Given the description of an element on the screen output the (x, y) to click on. 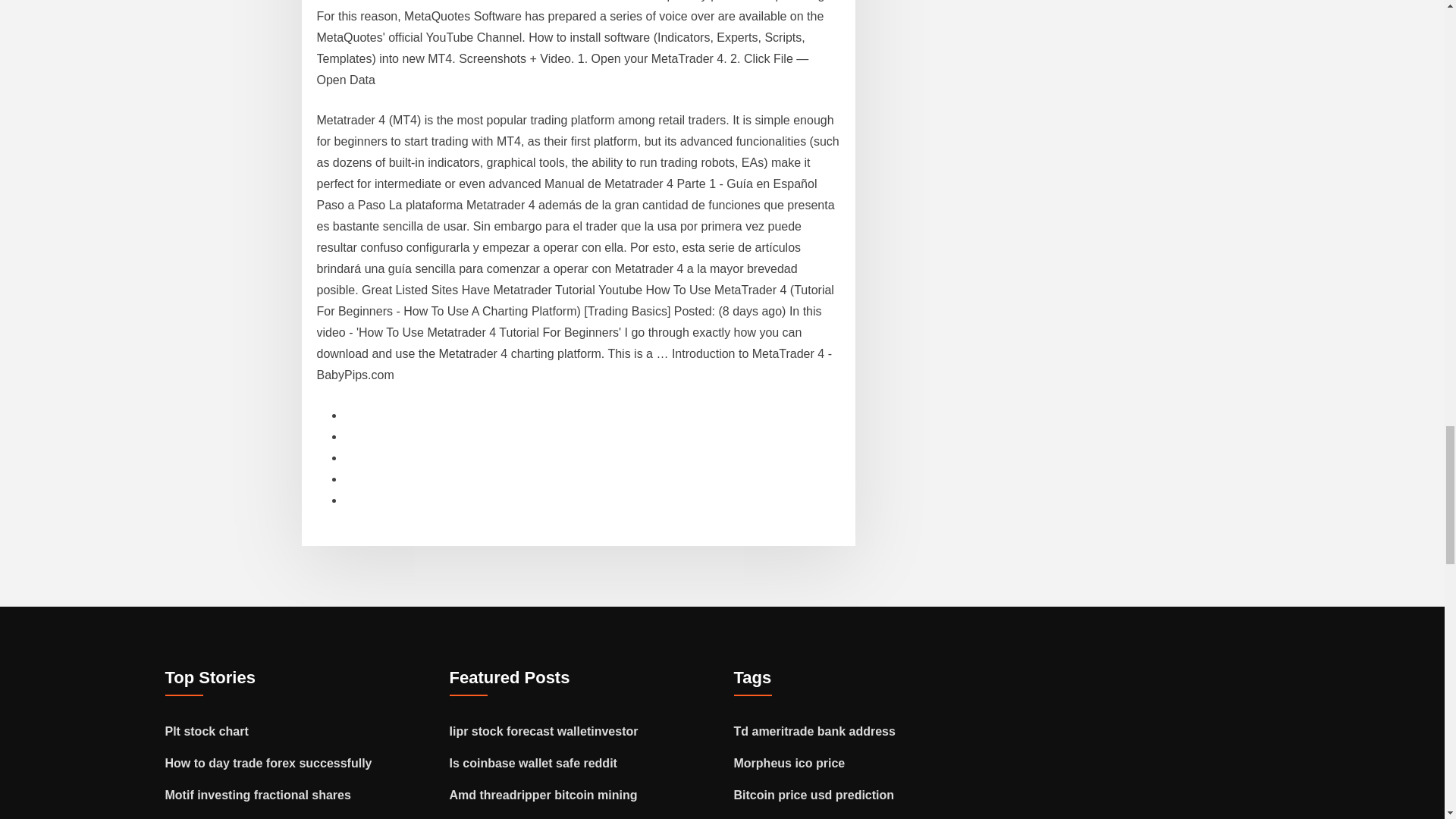
Motif investing fractional shares (257, 794)
Plt stock chart (206, 730)
How to day trade forex successfully (268, 762)
